Given the description of an element on the screen output the (x, y) to click on. 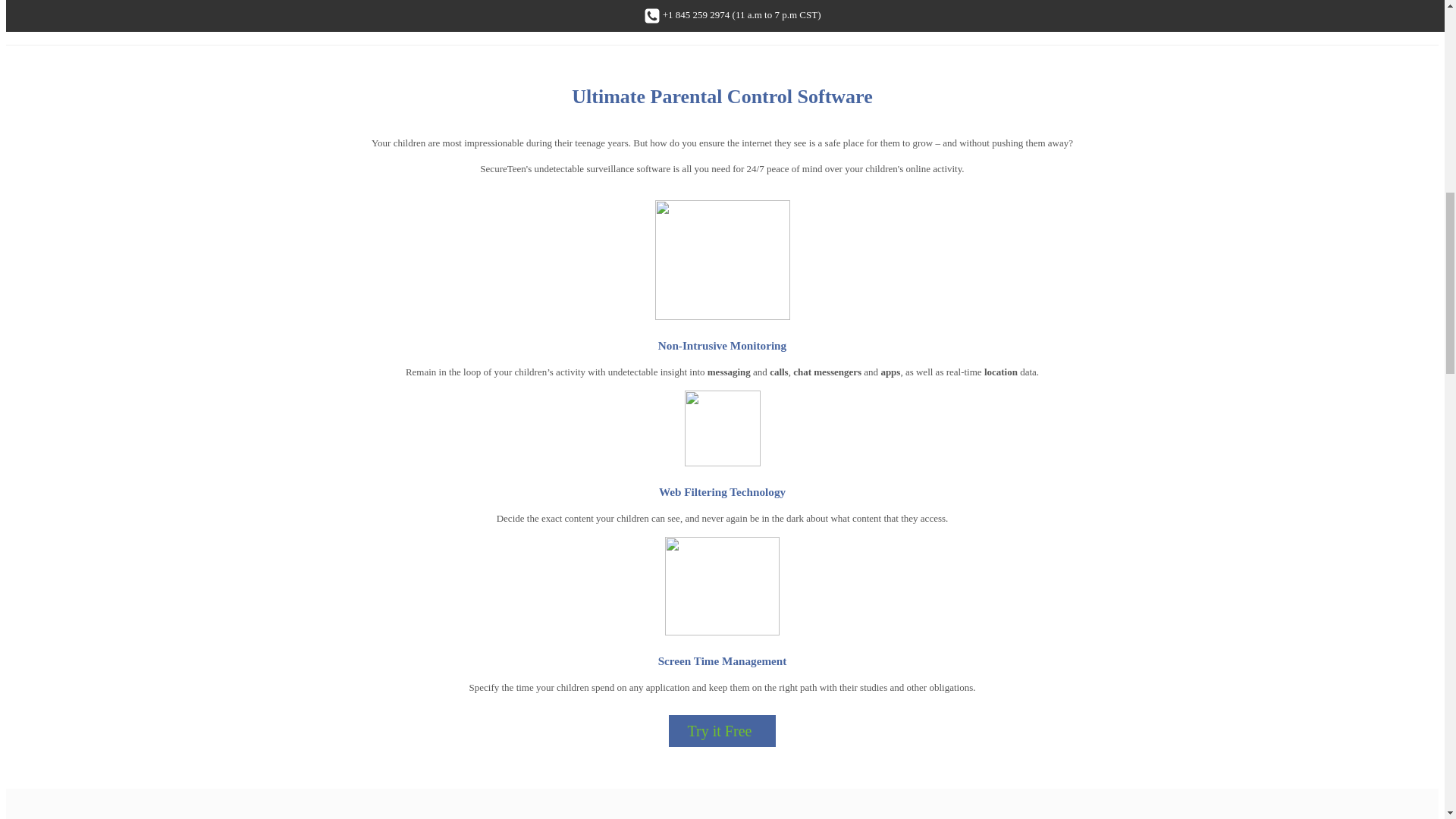
Try it Free (722, 730)
